Given the description of an element on the screen output the (x, y) to click on. 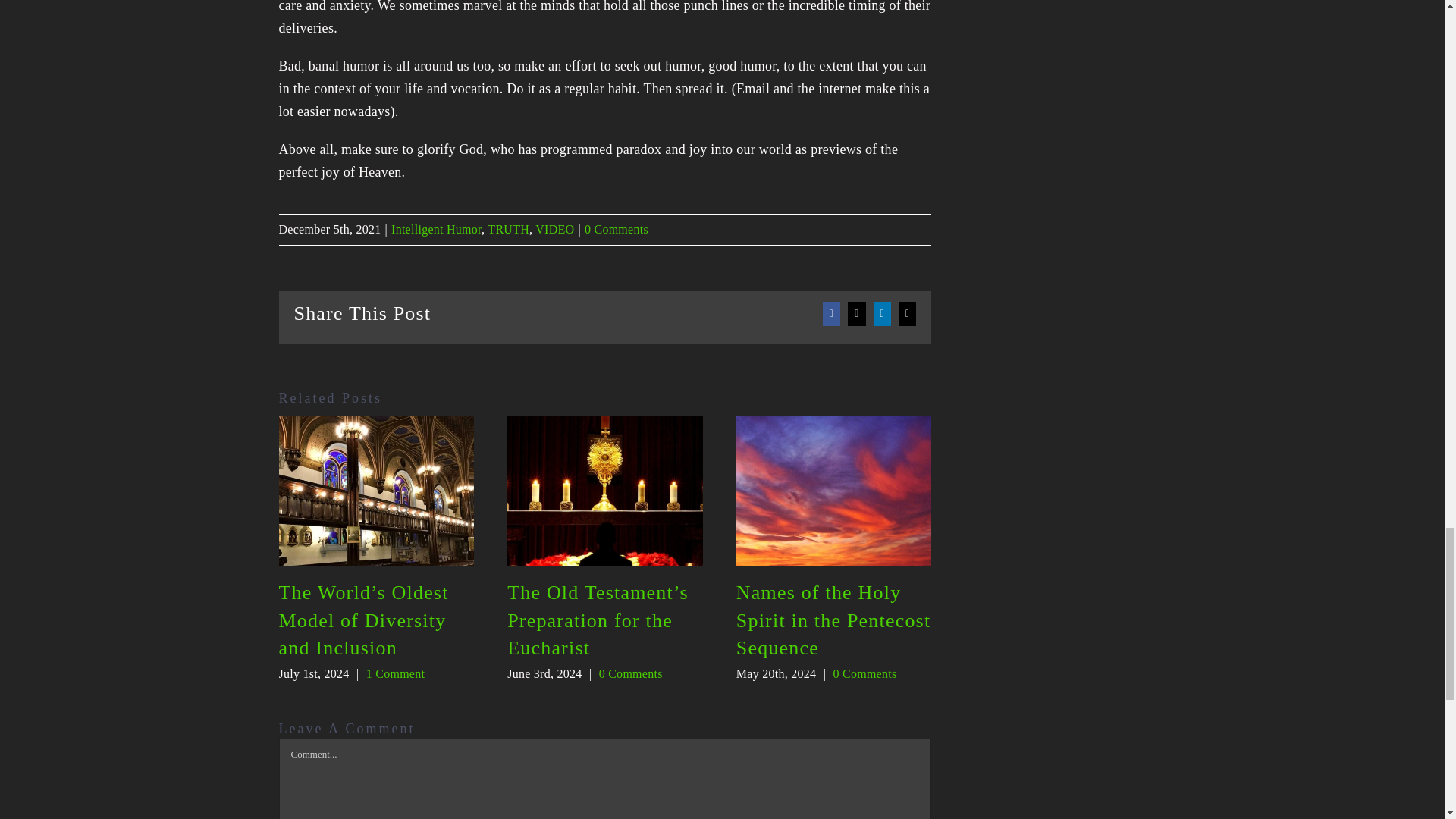
TRUTH (508, 228)
Intelligent Humor (436, 228)
0 Comments (616, 228)
VIDEO (554, 228)
